Given the description of an element on the screen output the (x, y) to click on. 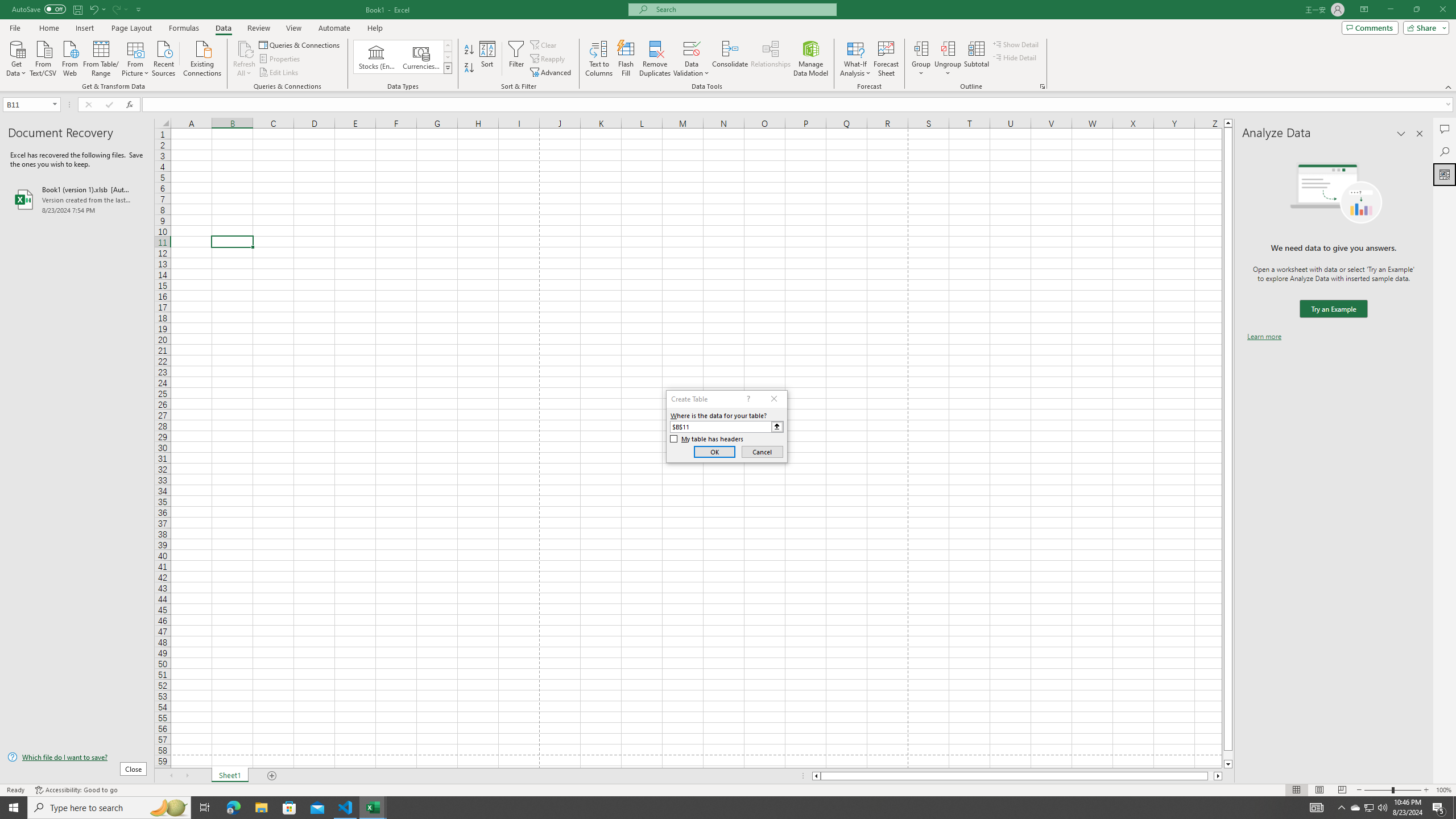
Name Box (27, 104)
Reapply (548, 58)
Search (1444, 151)
Accessibility Checker Accessibility: Good to go (76, 790)
Redo (115, 9)
Zoom In (1426, 790)
Restore Down (1416, 9)
Customize Quick Access Toolbar (139, 9)
Data Types (448, 67)
Which file do I want to save? (77, 757)
Class: NetUIScrollBar (1016, 775)
Scroll Left (171, 775)
Ungroup... (947, 58)
Review (258, 28)
Get Data (16, 57)
